Given the description of an element on the screen output the (x, y) to click on. 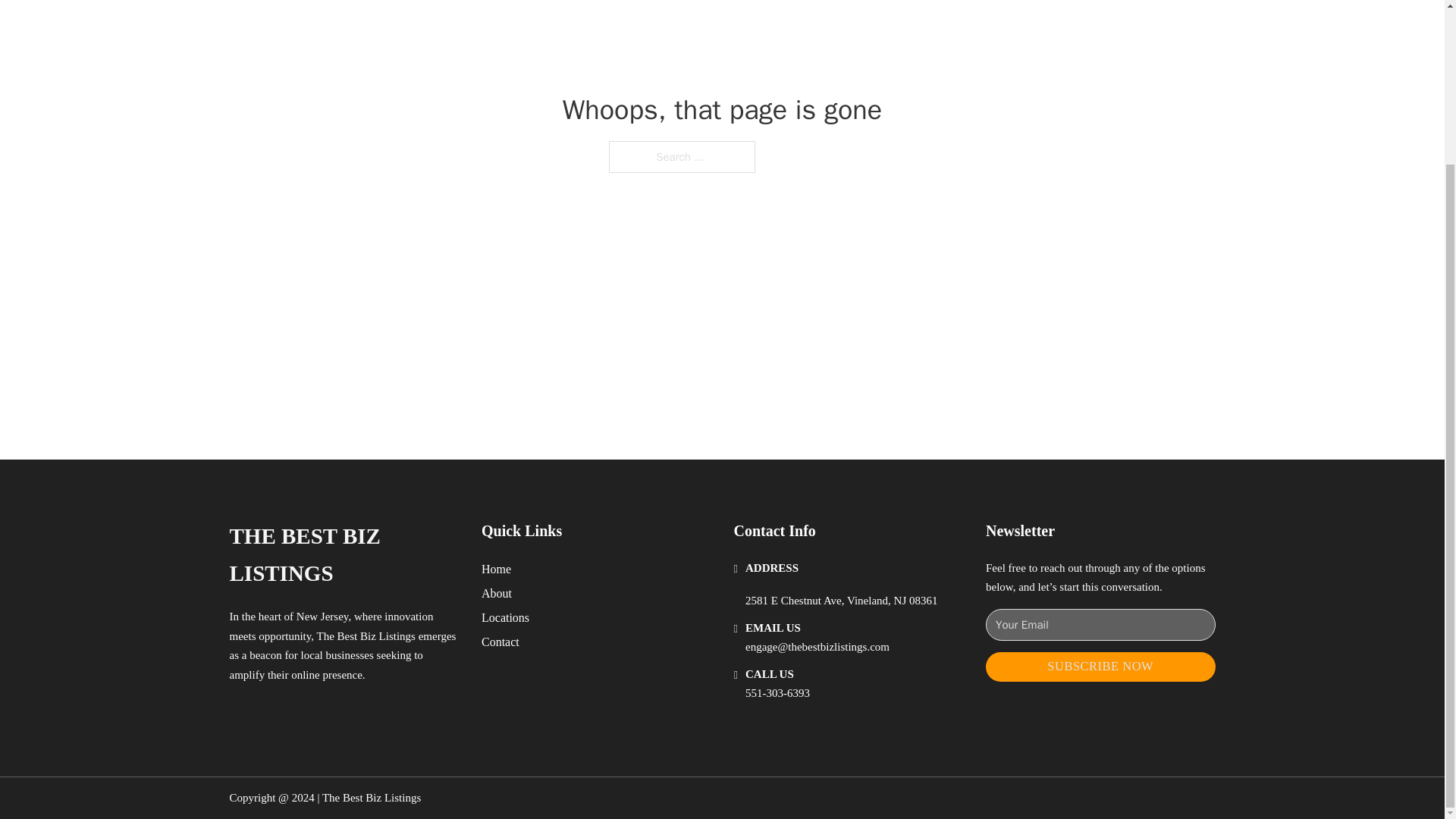
About (496, 593)
SUBSCRIBE NOW (1100, 666)
Contact (500, 641)
Home (496, 568)
THE BEST BIZ LISTINGS (343, 554)
551-303-6393 (777, 693)
Locations (505, 617)
